Given the description of an element on the screen output the (x, y) to click on. 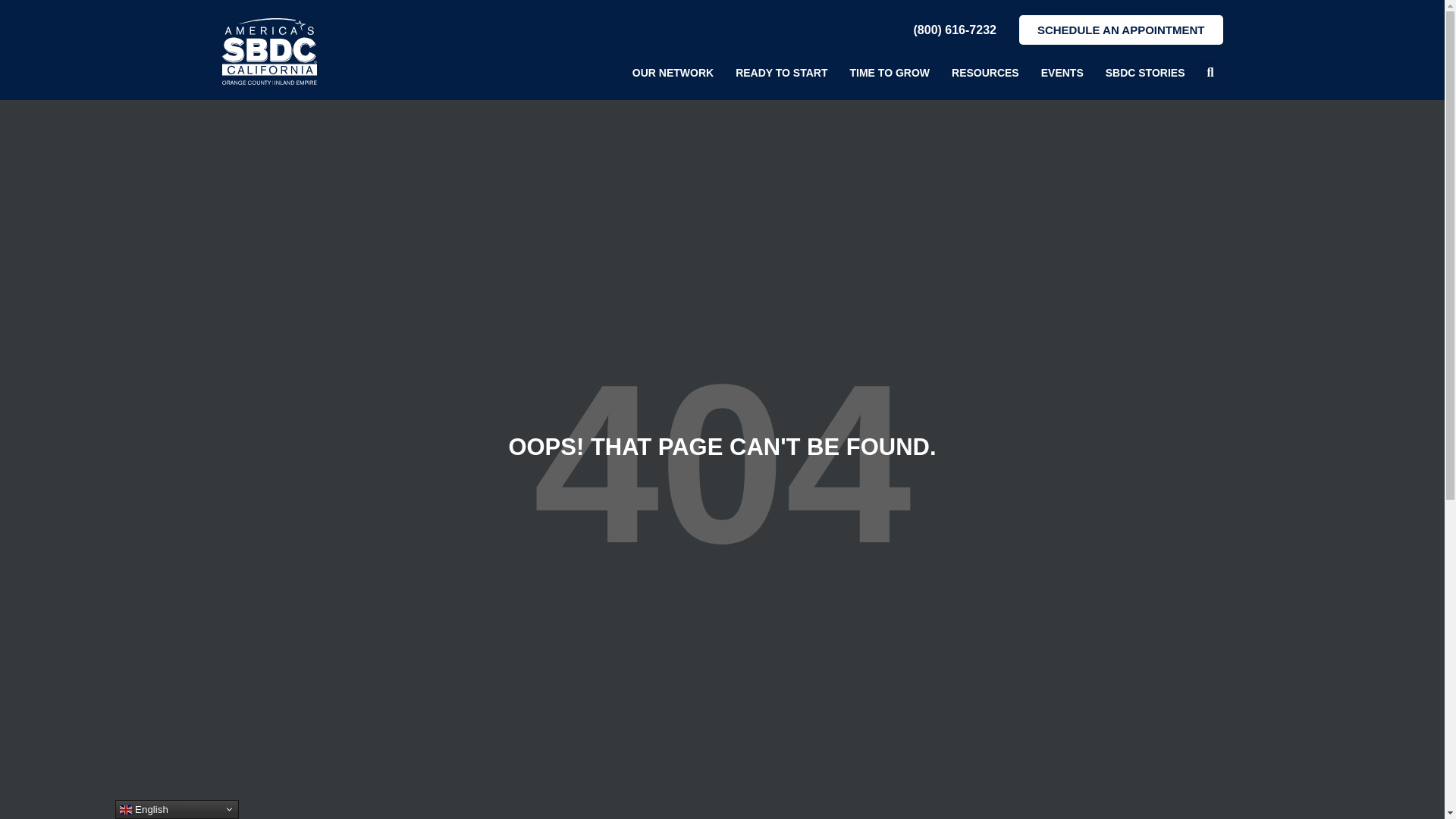
SBDC STORIES (1144, 72)
EVENTS (1061, 72)
OUR NETWORK (672, 72)
READY TO START (780, 72)
TIME TO GROW (889, 72)
SCHEDULE AN APPOINTMENT (1121, 30)
RESOURCES (985, 72)
